Given the description of an element on the screen output the (x, y) to click on. 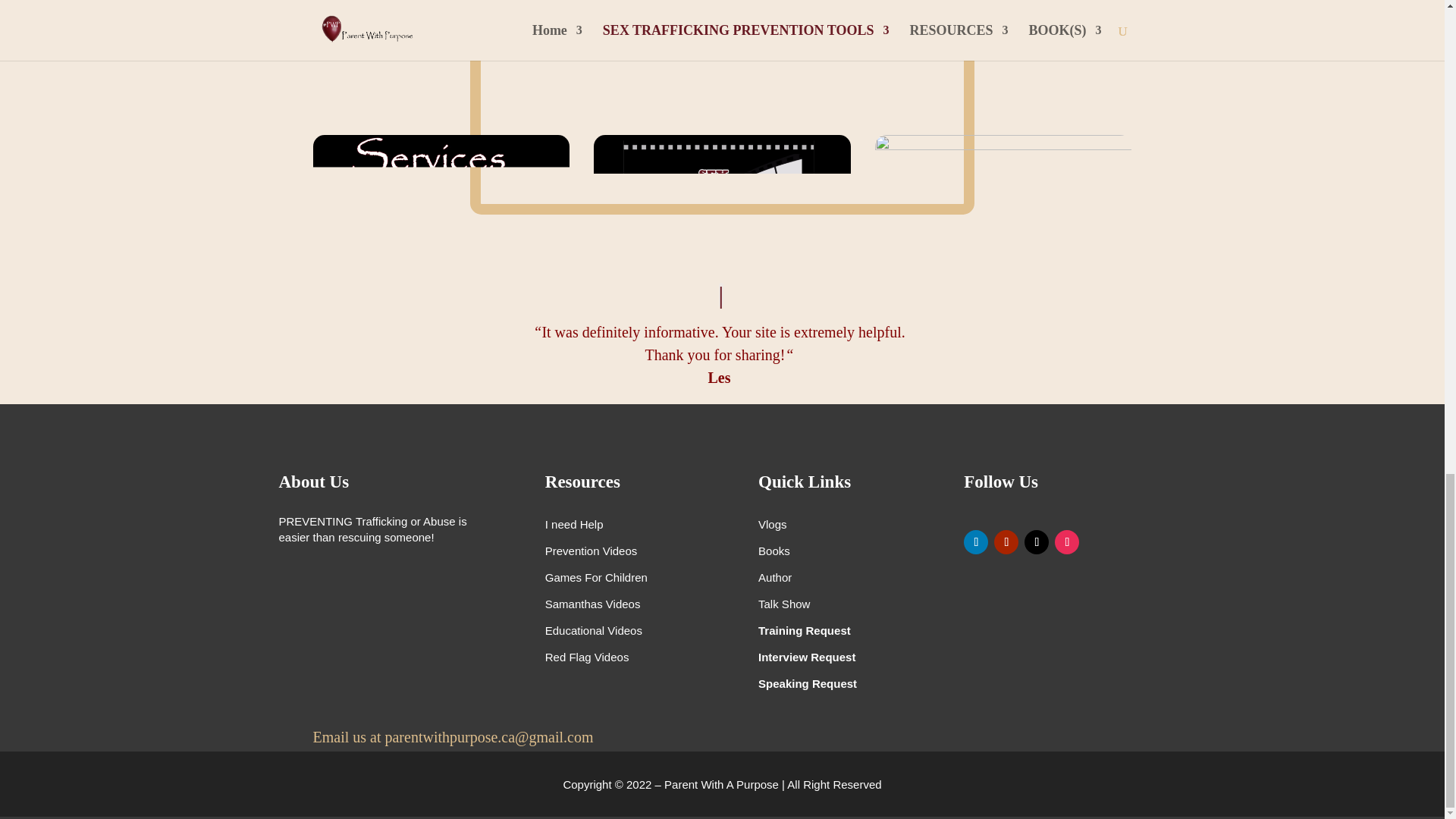
sex trafficking educational videos (722, 207)
Follow on LinkedIn (975, 541)
service (441, 207)
Follow on Youtube (1005, 541)
Follow on Instagram (1066, 541)
parenting tools and awareness tools and games (1003, 207)
Follow on X (1036, 541)
